Given the description of an element on the screen output the (x, y) to click on. 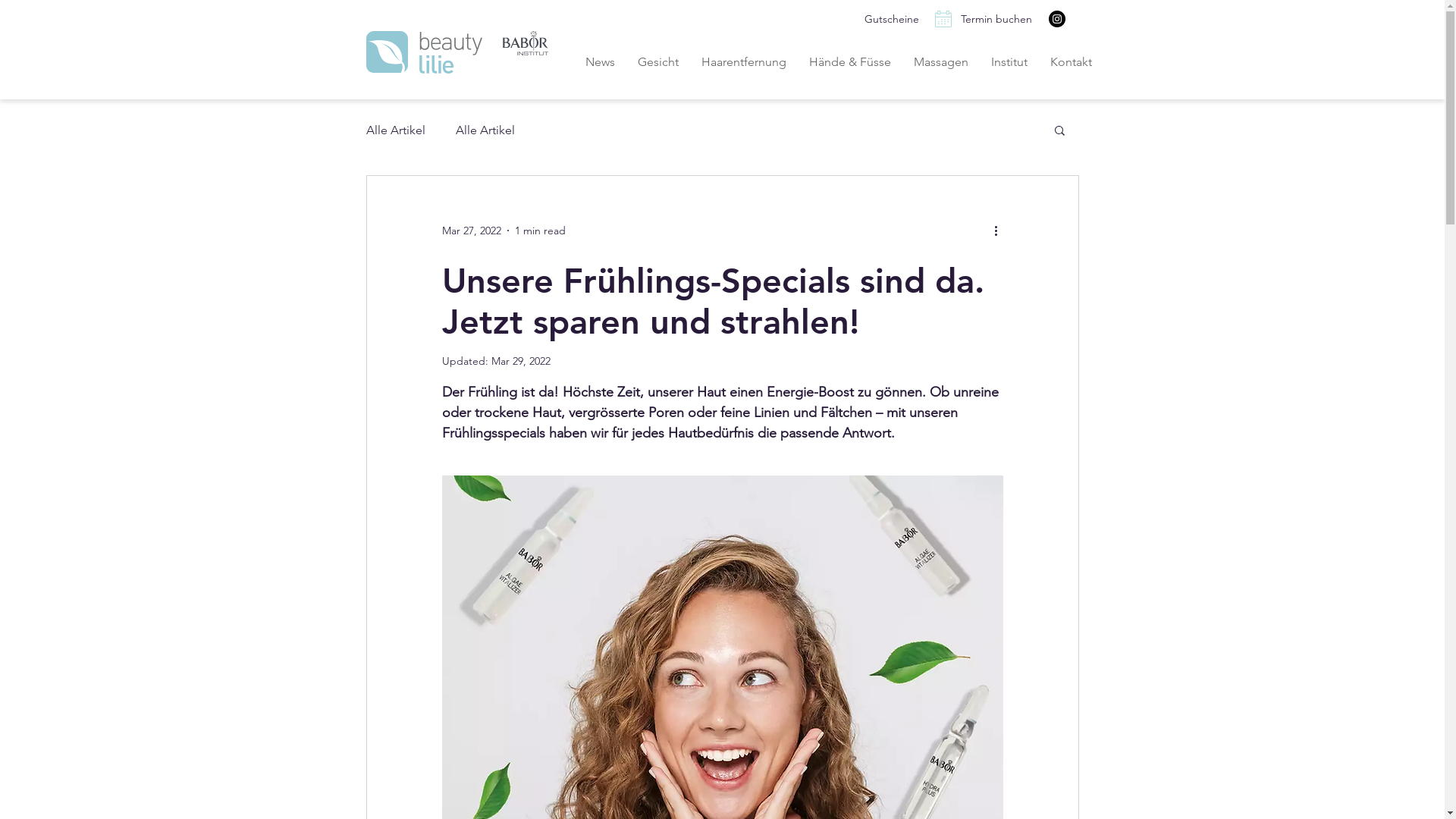
Massagen Element type: text (940, 61)
Institut Element type: text (1008, 61)
News Element type: text (599, 61)
Alle Artikel Element type: text (394, 129)
Kontakt Element type: text (1070, 61)
Termin buchen Element type: text (995, 19)
Alle Artikel Element type: text (484, 129)
Gutscheine Element type: text (890, 19)
